Given the description of an element on the screen output the (x, y) to click on. 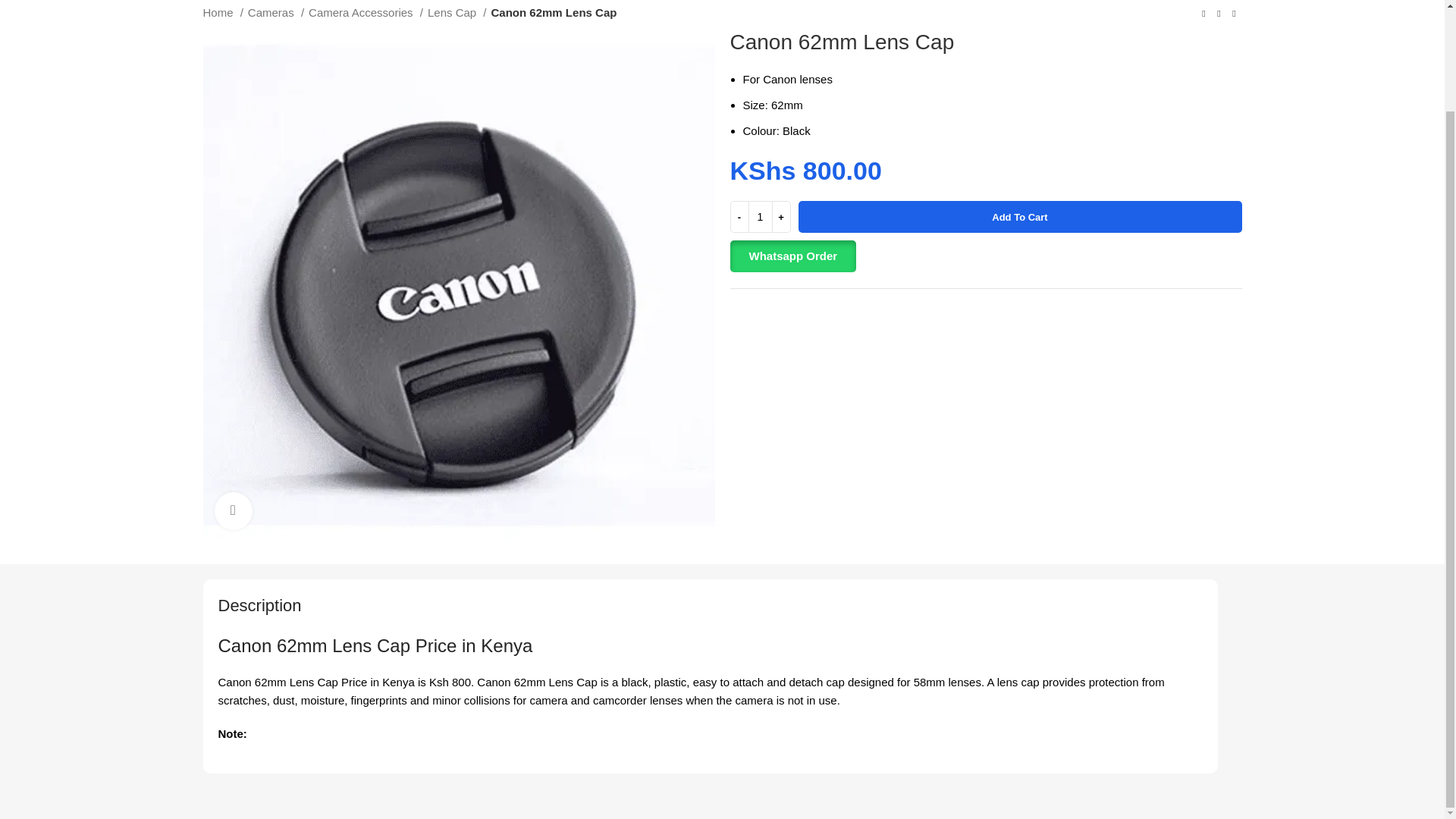
1 (760, 216)
- (738, 216)
